Given the description of an element on the screen output the (x, y) to click on. 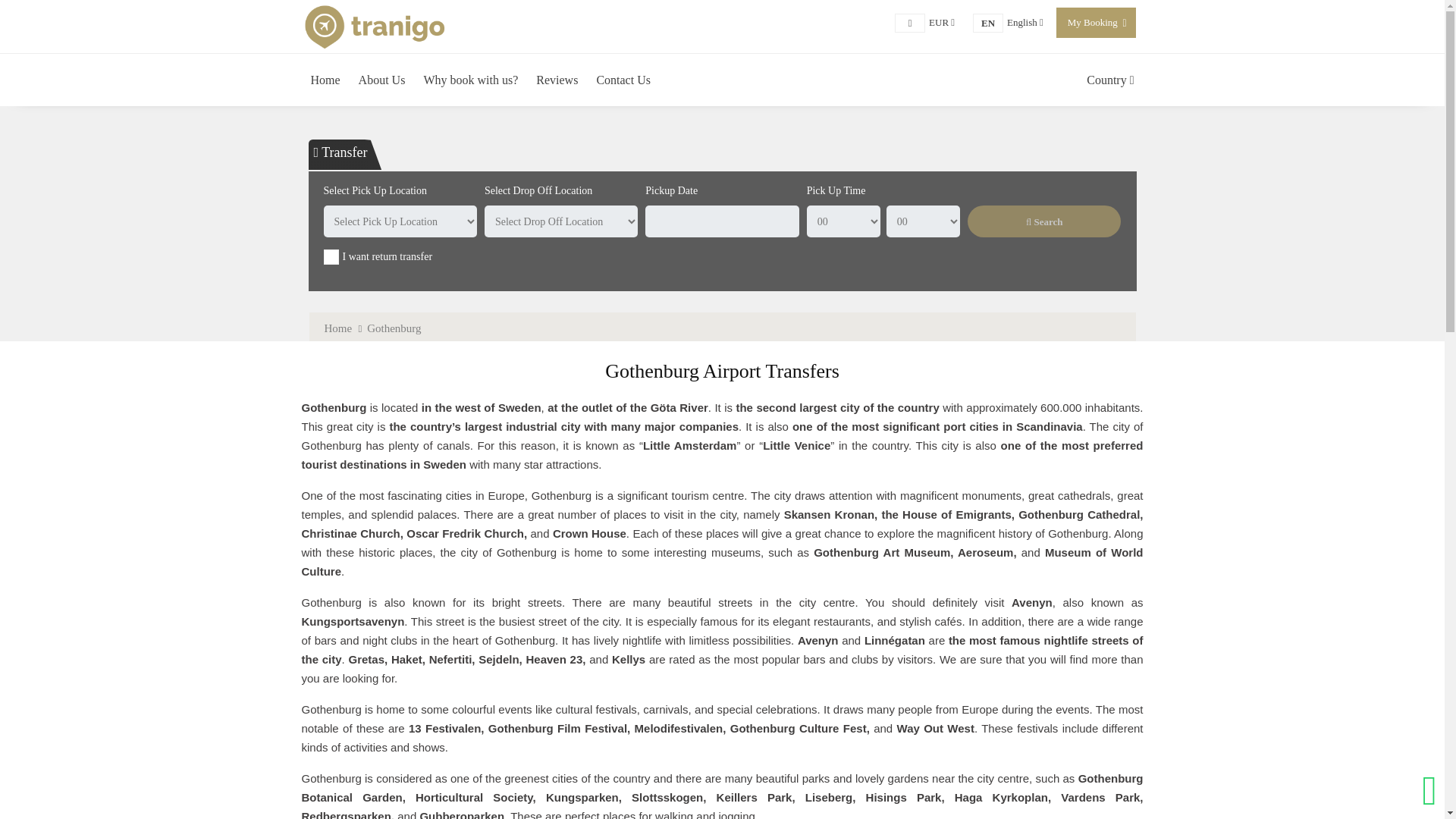
Reviews (556, 80)
Contact Us (622, 80)
EUR (1025, 21)
Country (941, 21)
About Us (1110, 80)
Why book with us? (382, 80)
My Booking (470, 80)
